Given the description of an element on the screen output the (x, y) to click on. 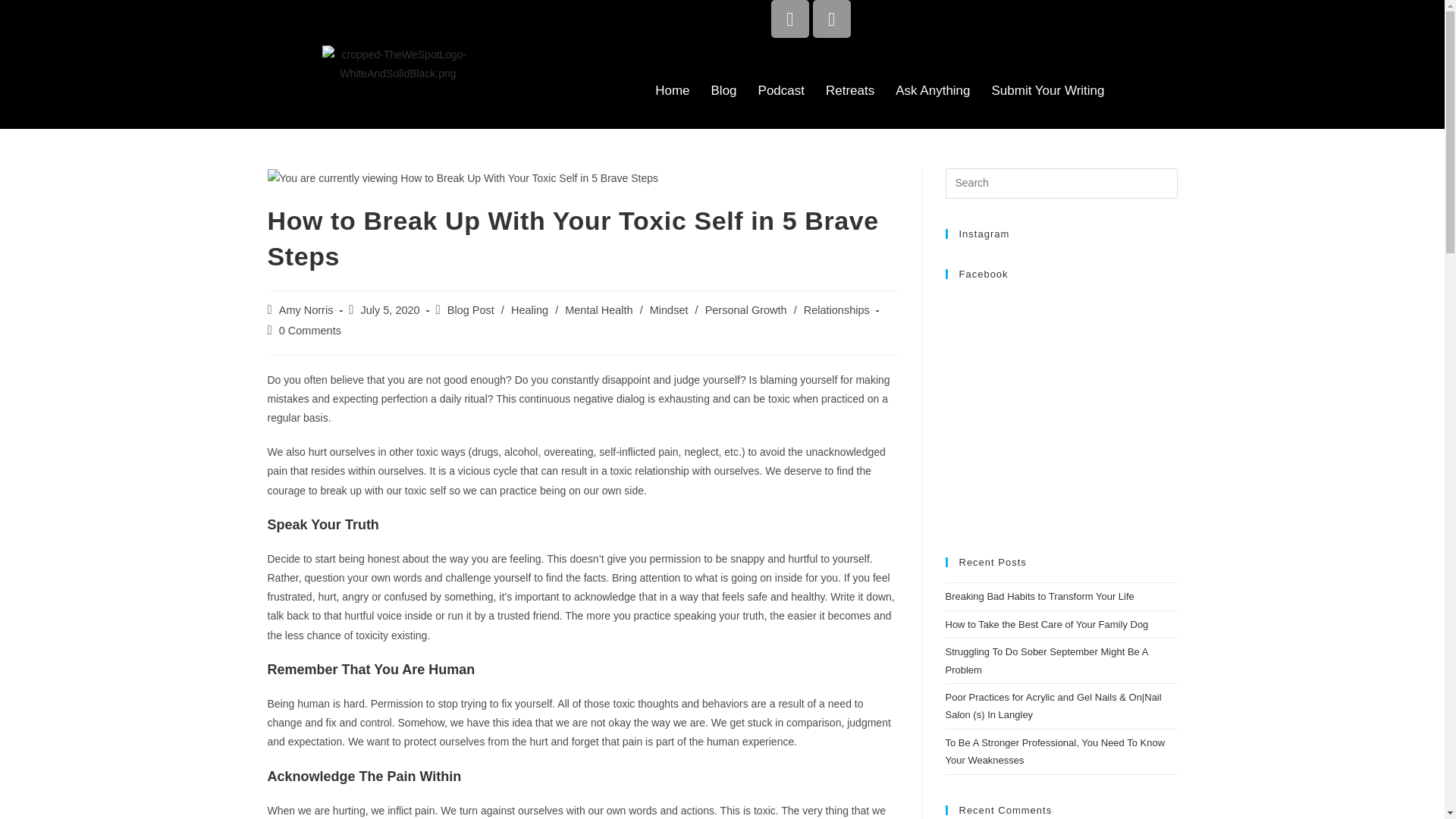
Healing (529, 309)
Podcast (781, 90)
Relationships (836, 309)
Ask Anything (932, 90)
Posts by Amy Norris (306, 309)
Mindset (668, 309)
Blog Post (470, 309)
cropped-TheWeSpotLogo-WhiteAndSolidBlack.png (397, 64)
Retreats (850, 90)
Mental Health (597, 309)
